Given the description of an element on the screen output the (x, y) to click on. 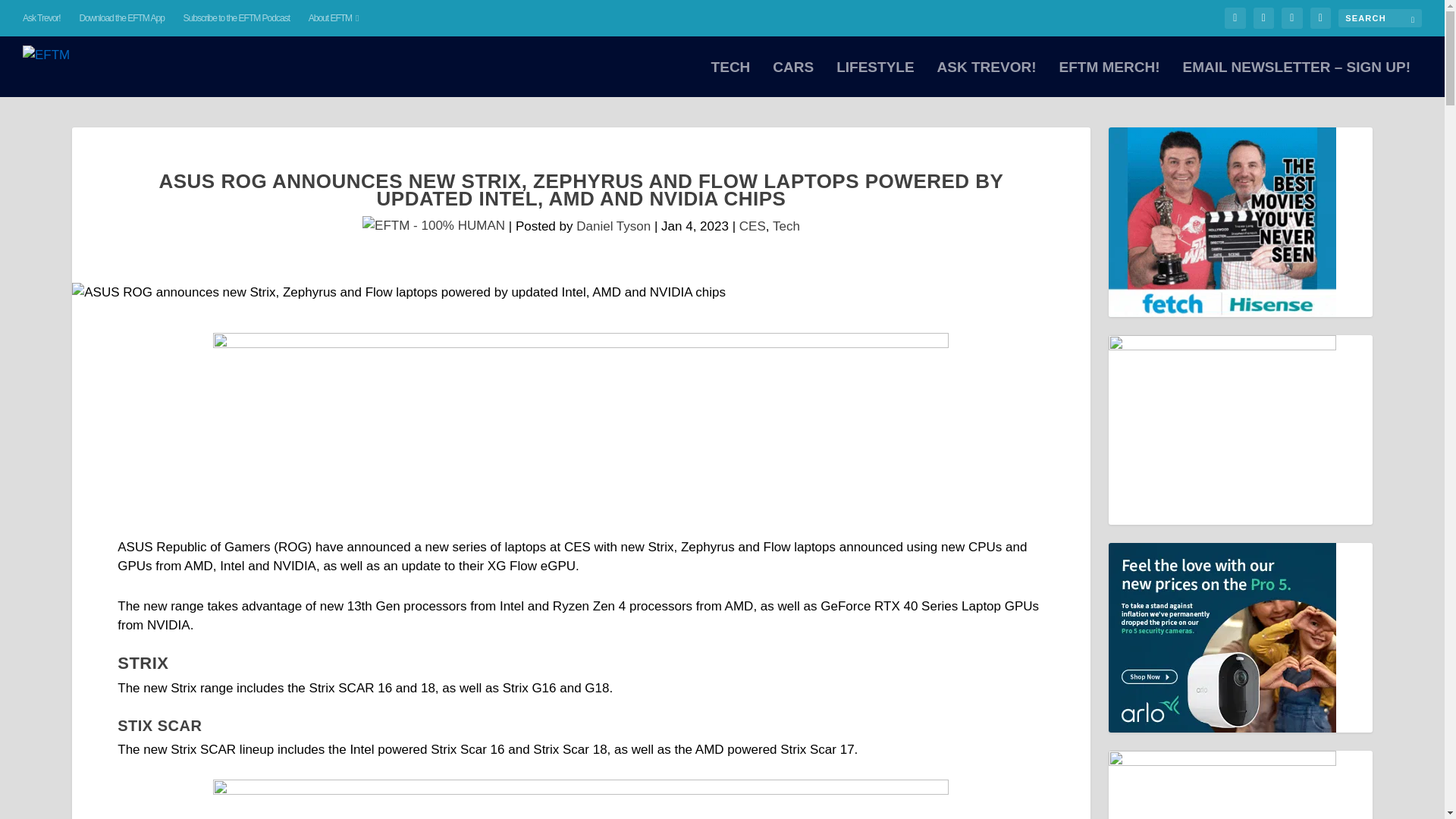
Search for: (1380, 18)
Ask Trevor! (42, 18)
TECH (731, 79)
Tech (786, 225)
Subscribe to the EFTM Podcast (236, 18)
Download the EFTM App (120, 18)
LIFESTYLE (874, 79)
Posts by Daniel Tyson (613, 225)
Daniel Tyson (613, 225)
About EFTM (333, 18)
